Given the description of an element on the screen output the (x, y) to click on. 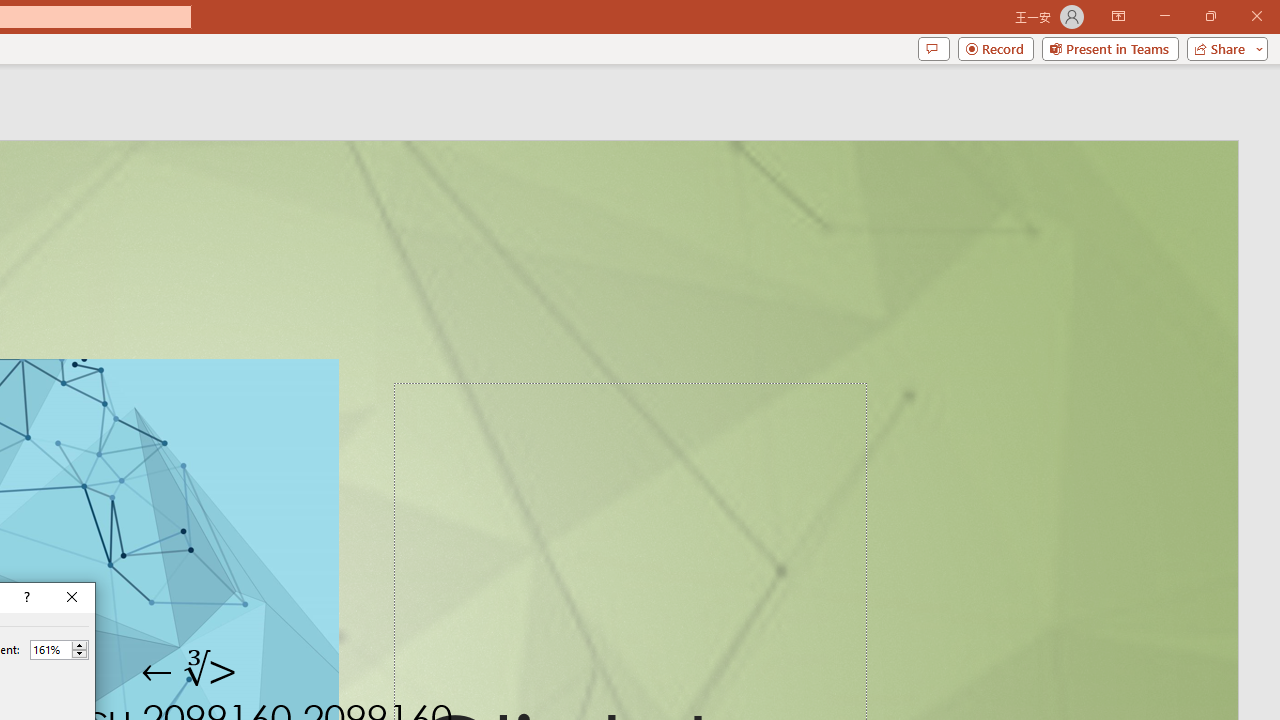
Percent (59, 650)
Percent (50, 649)
Context help (25, 597)
